Given the description of an element on the screen output the (x, y) to click on. 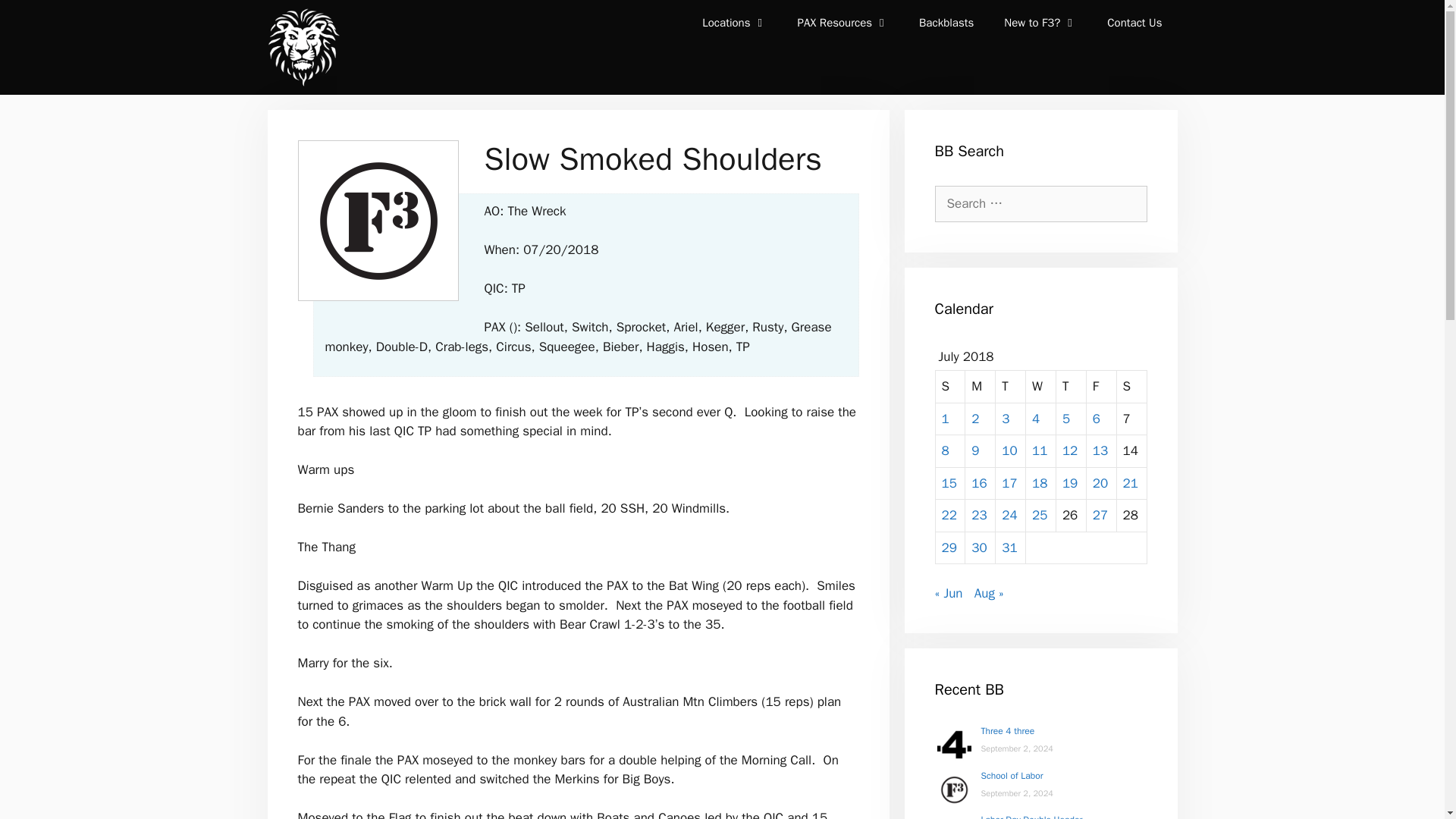
Wednesday (1041, 387)
Monday (980, 387)
10 (1008, 450)
Backblasts (946, 22)
Saturday (1131, 387)
11 (1039, 450)
PAX Resources (843, 22)
Contact Us (1134, 22)
Thursday (1071, 387)
Locations (734, 22)
